Given the description of an element on the screen output the (x, y) to click on. 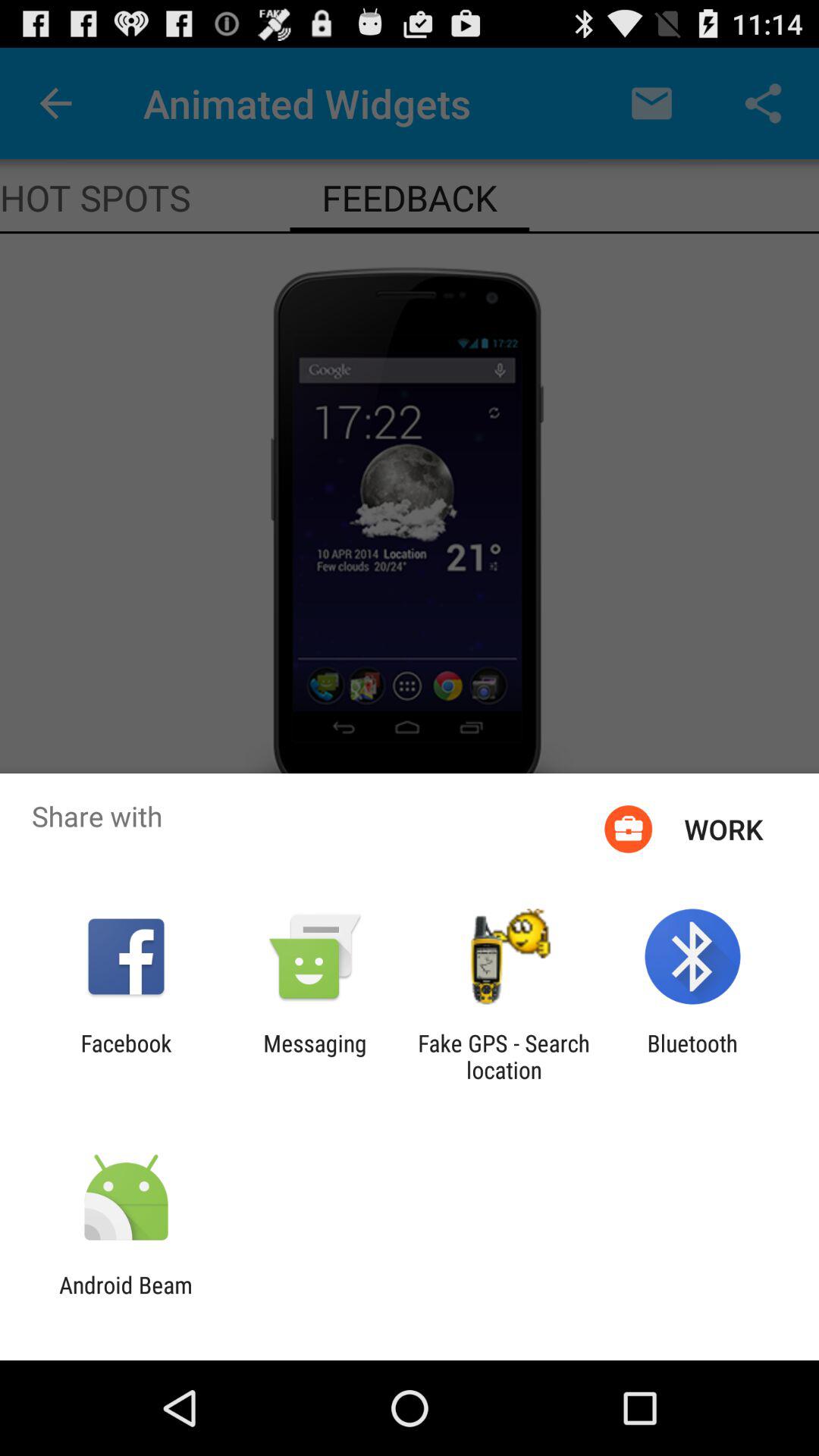
click the bluetooth (692, 1056)
